Given the description of an element on the screen output the (x, y) to click on. 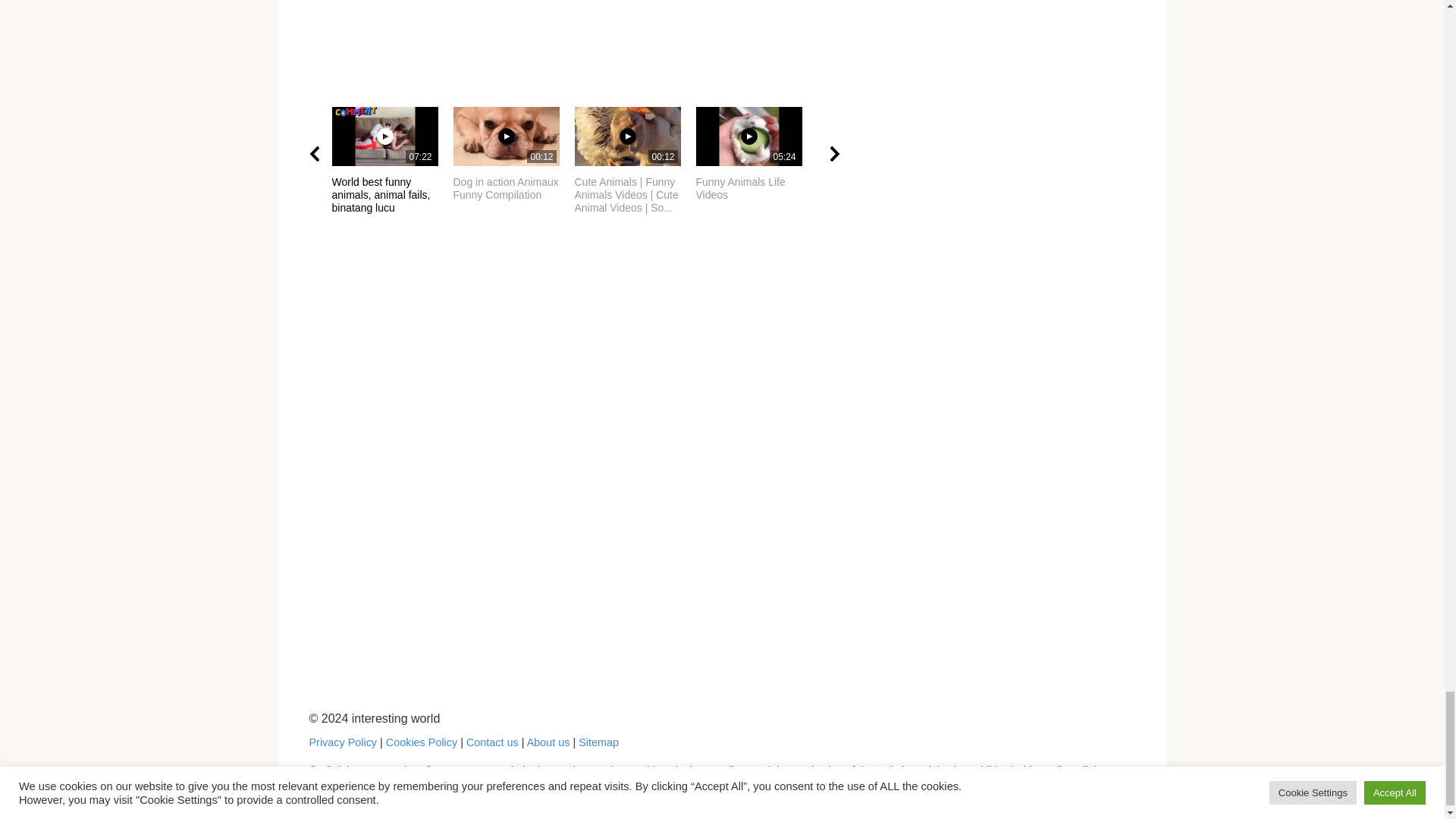
Sitemap (598, 742)
About us (548, 742)
Cookies Policy (513, 154)
Contact us (755, 154)
Privacy Policy (421, 742)
